Given the description of an element on the screen output the (x, y) to click on. 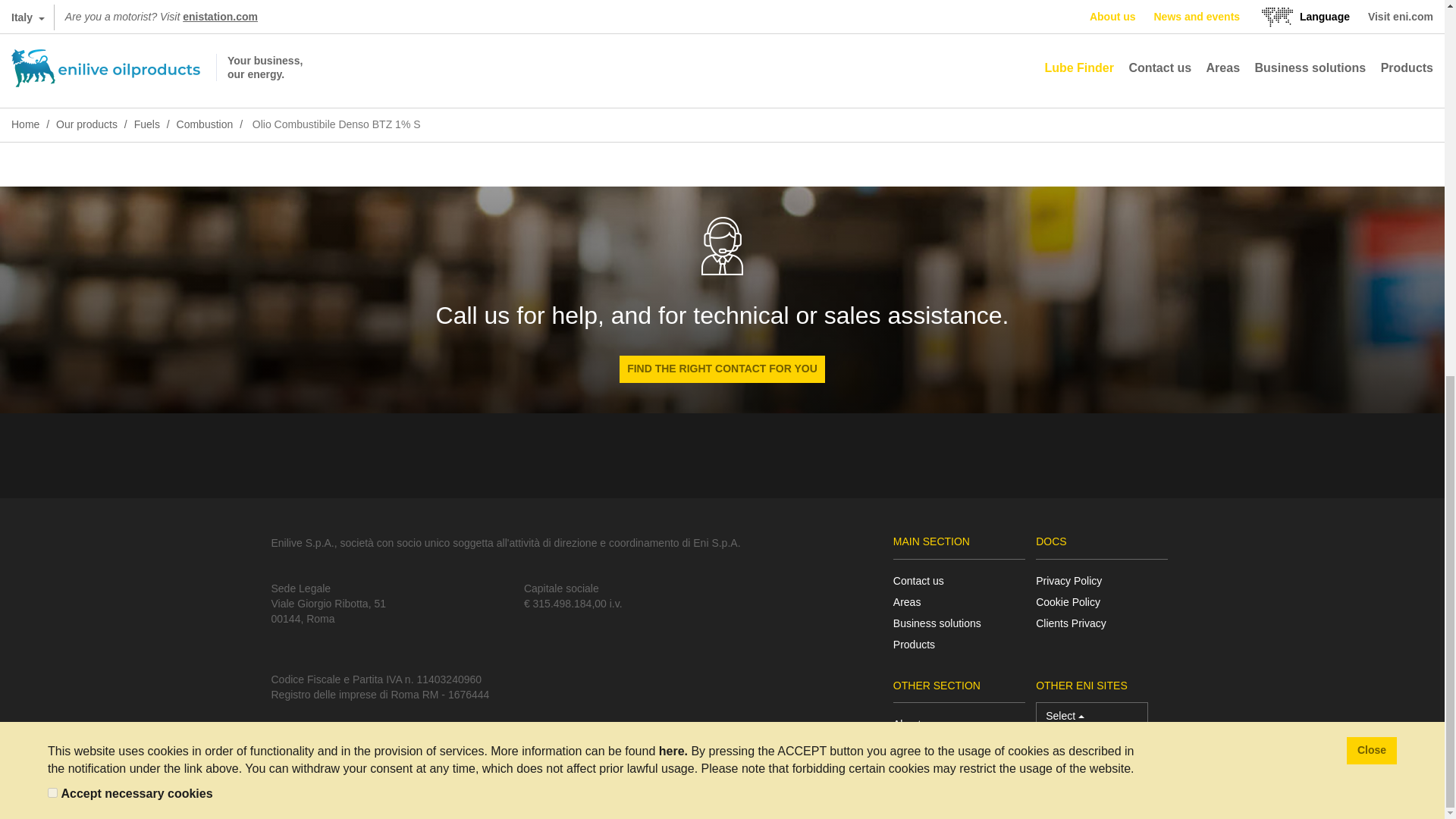
on (53, 100)
